Given the description of an element on the screen output the (x, y) to click on. 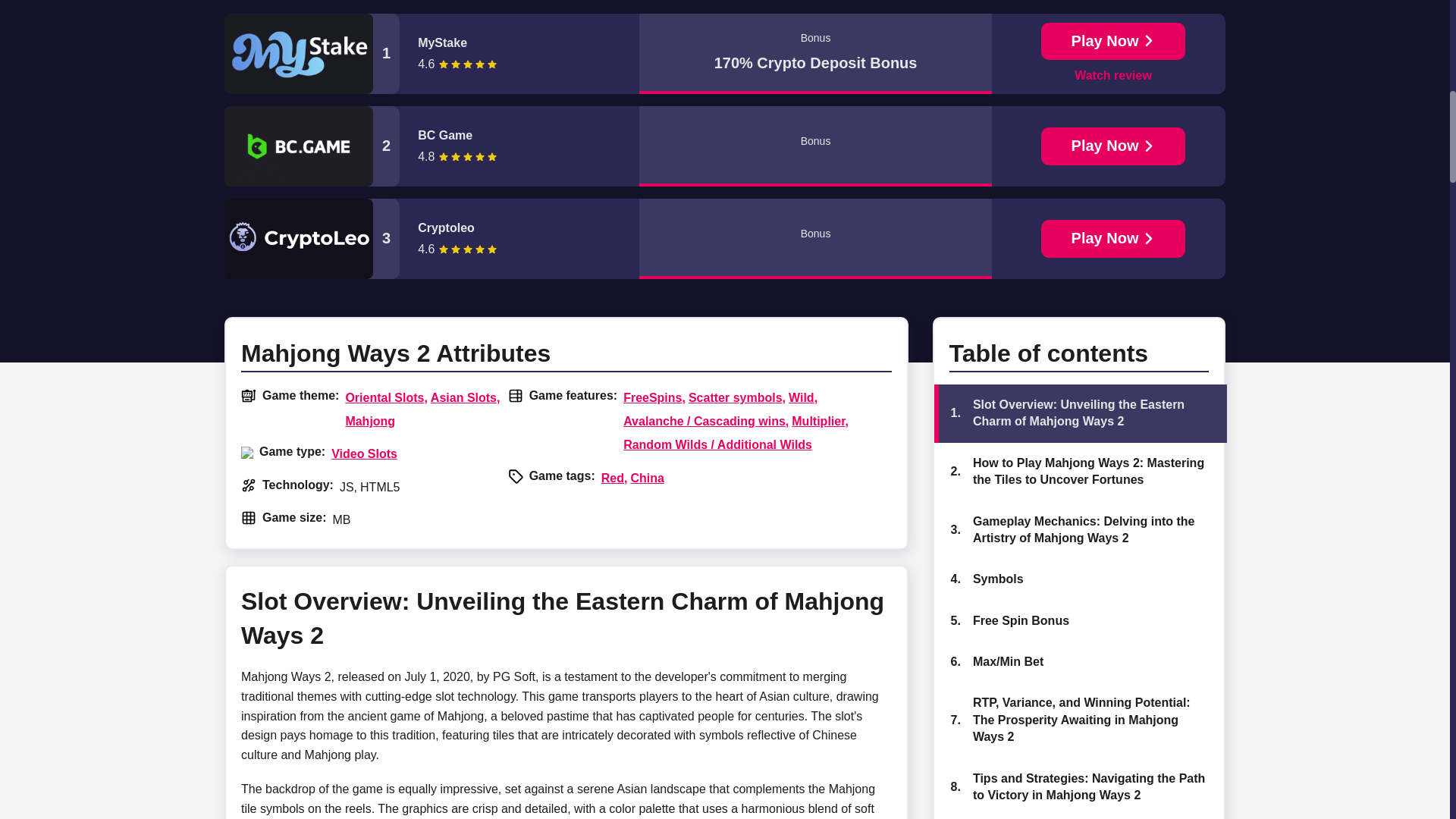
Mahjong (369, 421)
3 (311, 239)
BC Game (512, 135)
2 (311, 146)
Play Now (1113, 41)
Play Now (1113, 238)
Asian Slots, (465, 397)
Oriental Slots, (385, 397)
1 (311, 53)
Play Now (1113, 146)
